Given the description of an element on the screen output the (x, y) to click on. 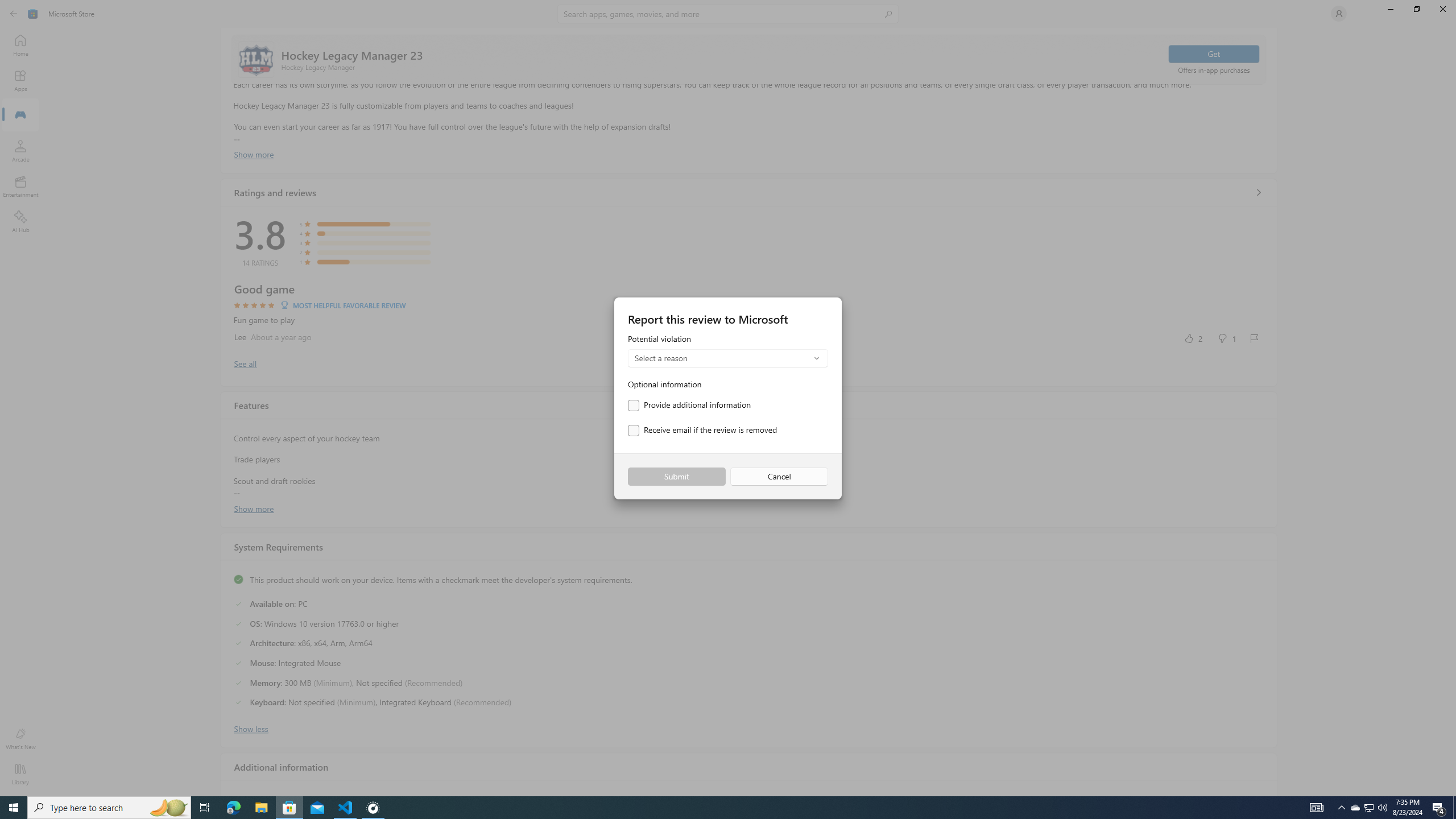
Search (727, 13)
AutomationID: NavigationControl (728, 398)
Potential violation (727, 351)
Show all ratings and reviews (244, 362)
No, this was not helpful. 1 votes. (1226, 338)
Review by Lee. Rated 5 out of five stars. Good game. (748, 313)
Cancel (779, 476)
Provide additional information (689, 405)
Back (13, 13)
Report review (1253, 338)
